Given the description of an element on the screen output the (x, y) to click on. 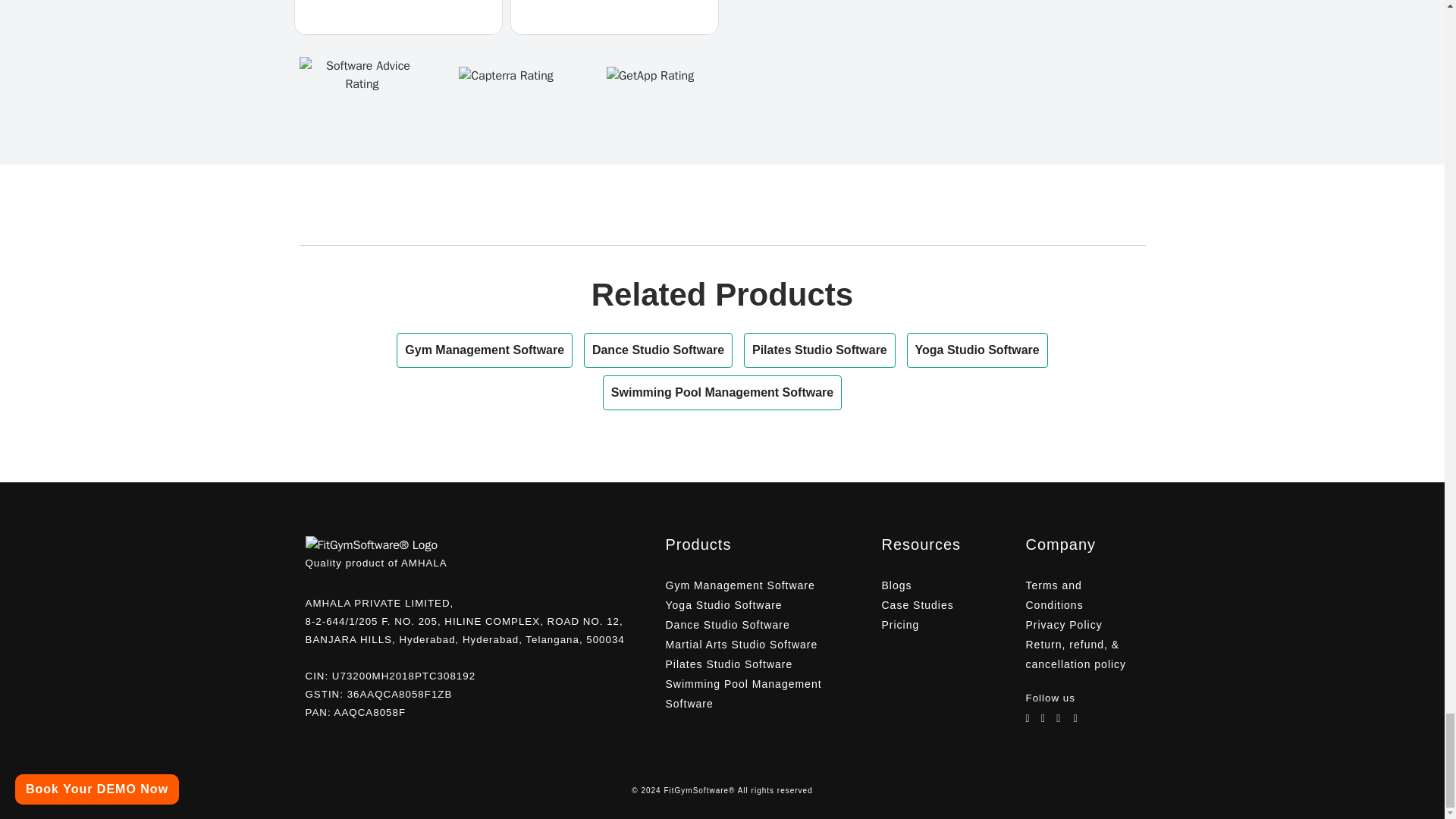
Check on SoftwareAdvice (361, 73)
Check on Capttera (505, 74)
